Given the description of an element on the screen output the (x, y) to click on. 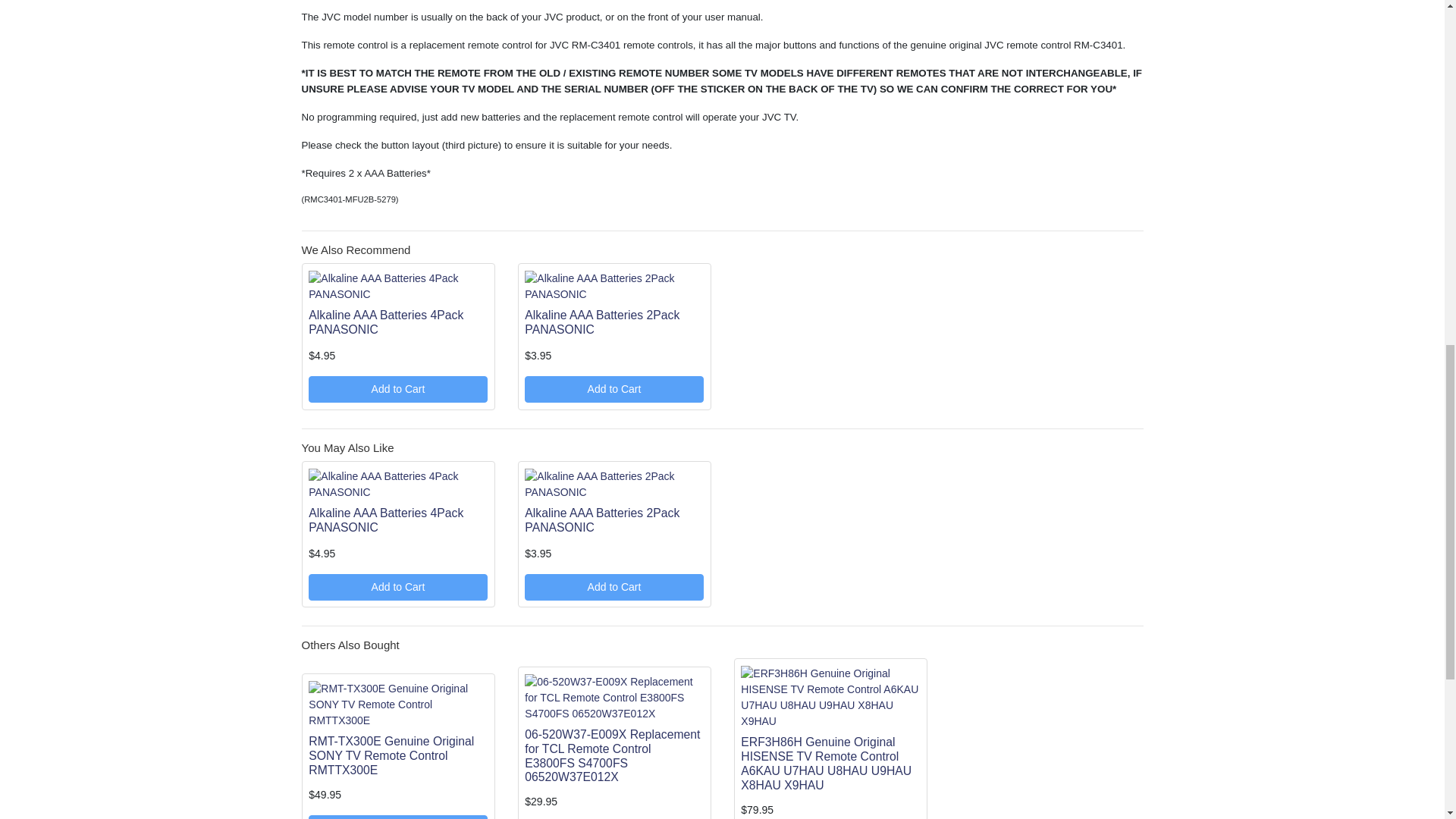
Add Alkaline AAA Batteries 2Pack PANASONIC to Cart (613, 388)
Add Alkaline AAA Batteries 4Pack PANASONIC to Cart (397, 388)
Add Alkaline AAA Batteries 4Pack PANASONIC to Cart (397, 587)
Add Alkaline AAA Batteries 2Pack PANASONIC to Cart (613, 587)
